Given the description of an element on the screen output the (x, y) to click on. 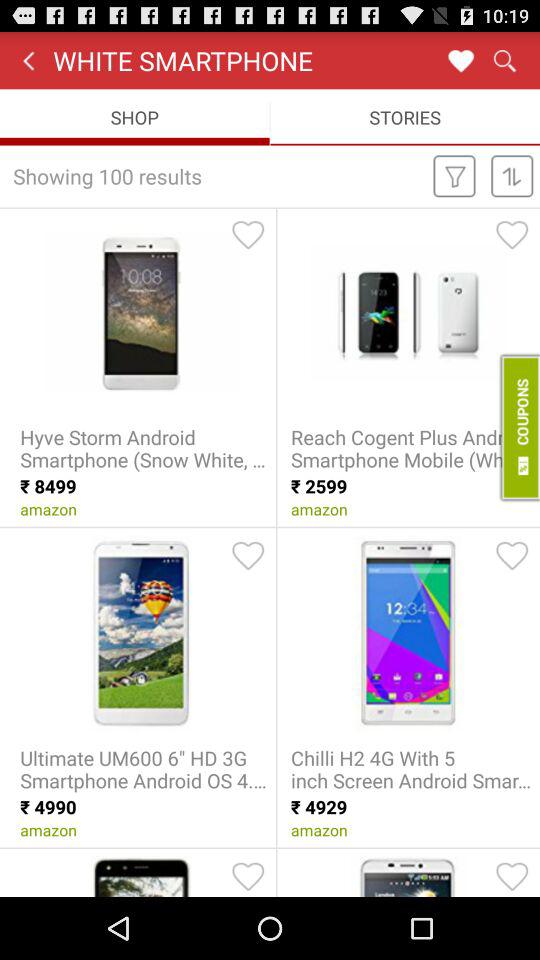
save to favorites (512, 555)
